Given the description of an element on the screen output the (x, y) to click on. 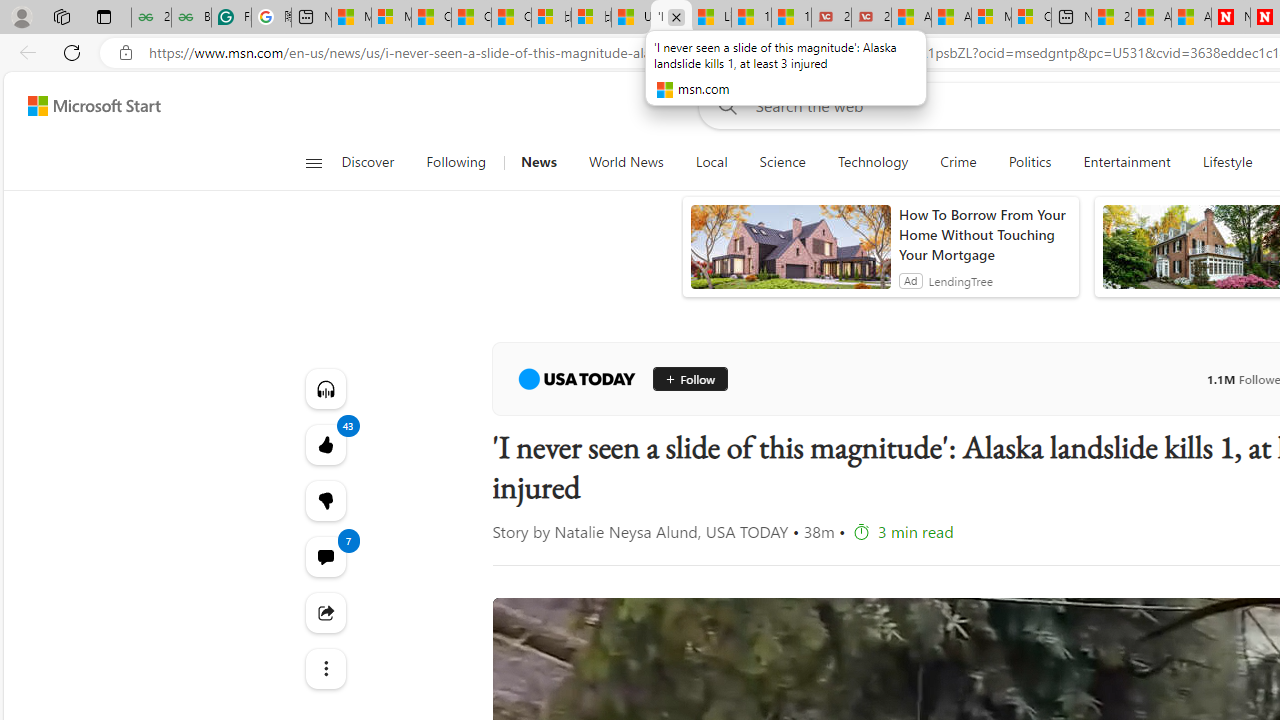
Best SSL Certificates Provider in India - GeeksforGeeks (191, 17)
Newsweek - News, Analysis, Politics, Business, Technology (1231, 17)
Class: at-item (324, 668)
